Given the description of an element on the screen output the (x, y) to click on. 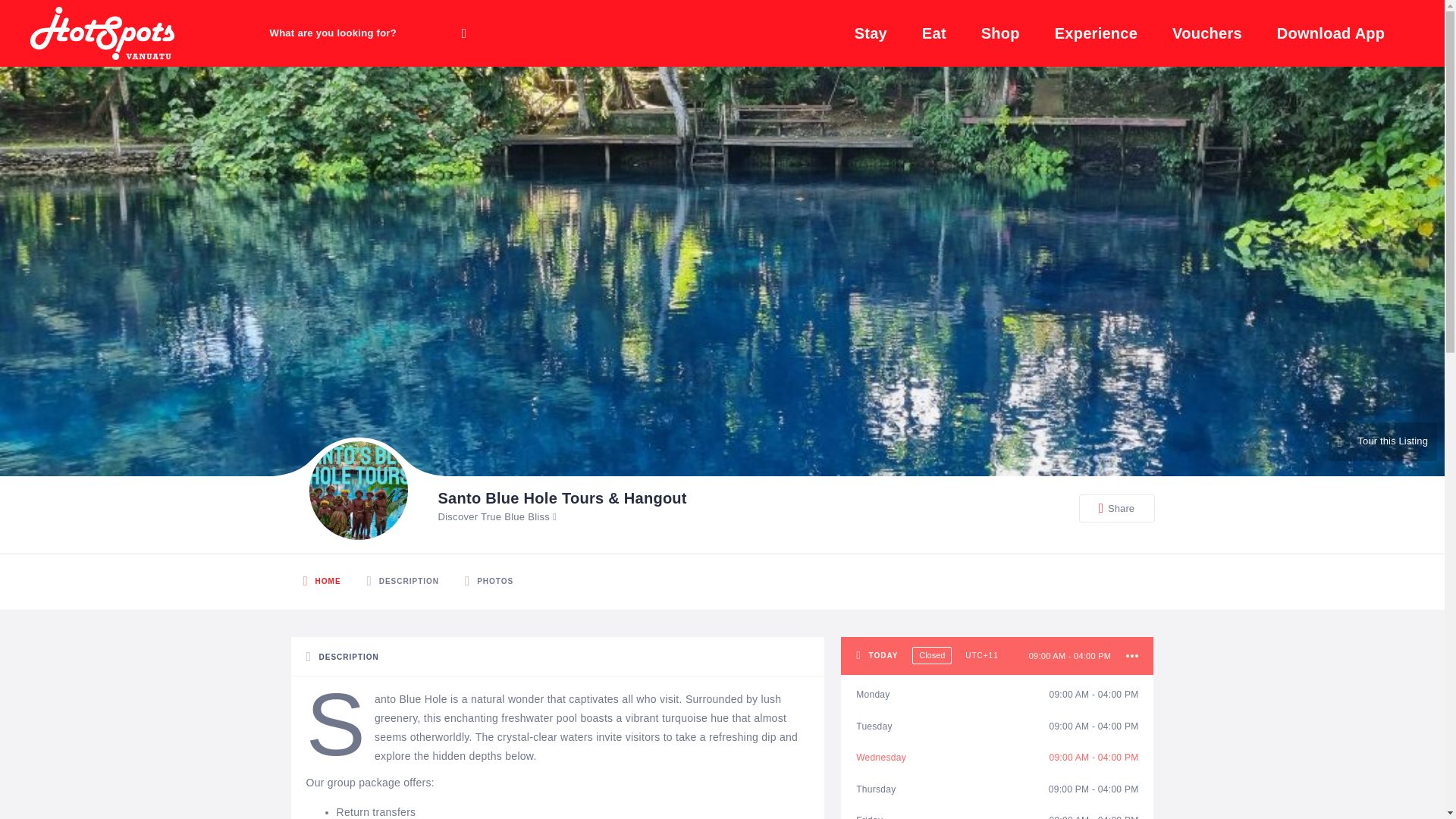
Experience (1096, 33)
Vouchers (1207, 33)
PHOTOS (488, 581)
Stay (871, 33)
Share (1116, 508)
DESCRIPTION (402, 581)
Download App (1331, 33)
Shop (1000, 33)
HOME (321, 581)
Tour this Listing (1382, 441)
